Given the description of an element on the screen output the (x, y) to click on. 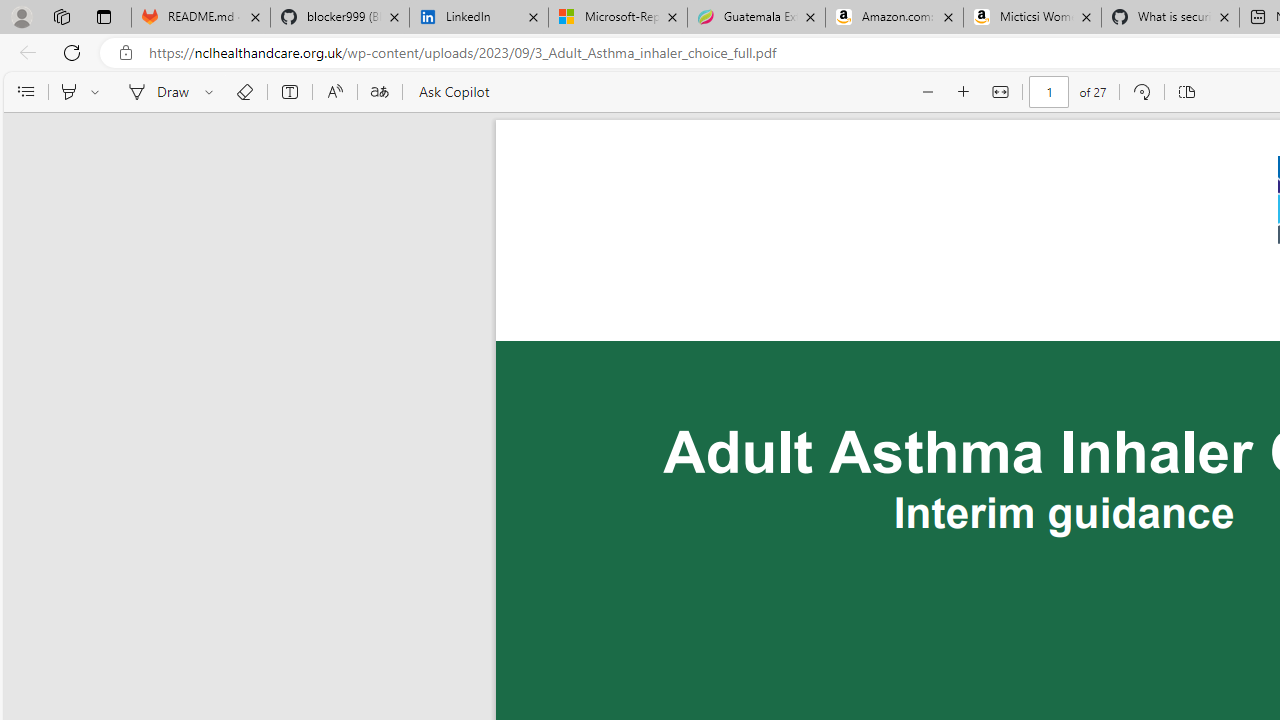
Zoom out (Ctrl+Minus key) (928, 92)
Erase (244, 92)
Select a highlight color (98, 92)
Add text (289, 92)
Fit to width (Ctrl+\) (999, 92)
LinkedIn (478, 17)
Translate (379, 92)
